Given the description of an element on the screen output the (x, y) to click on. 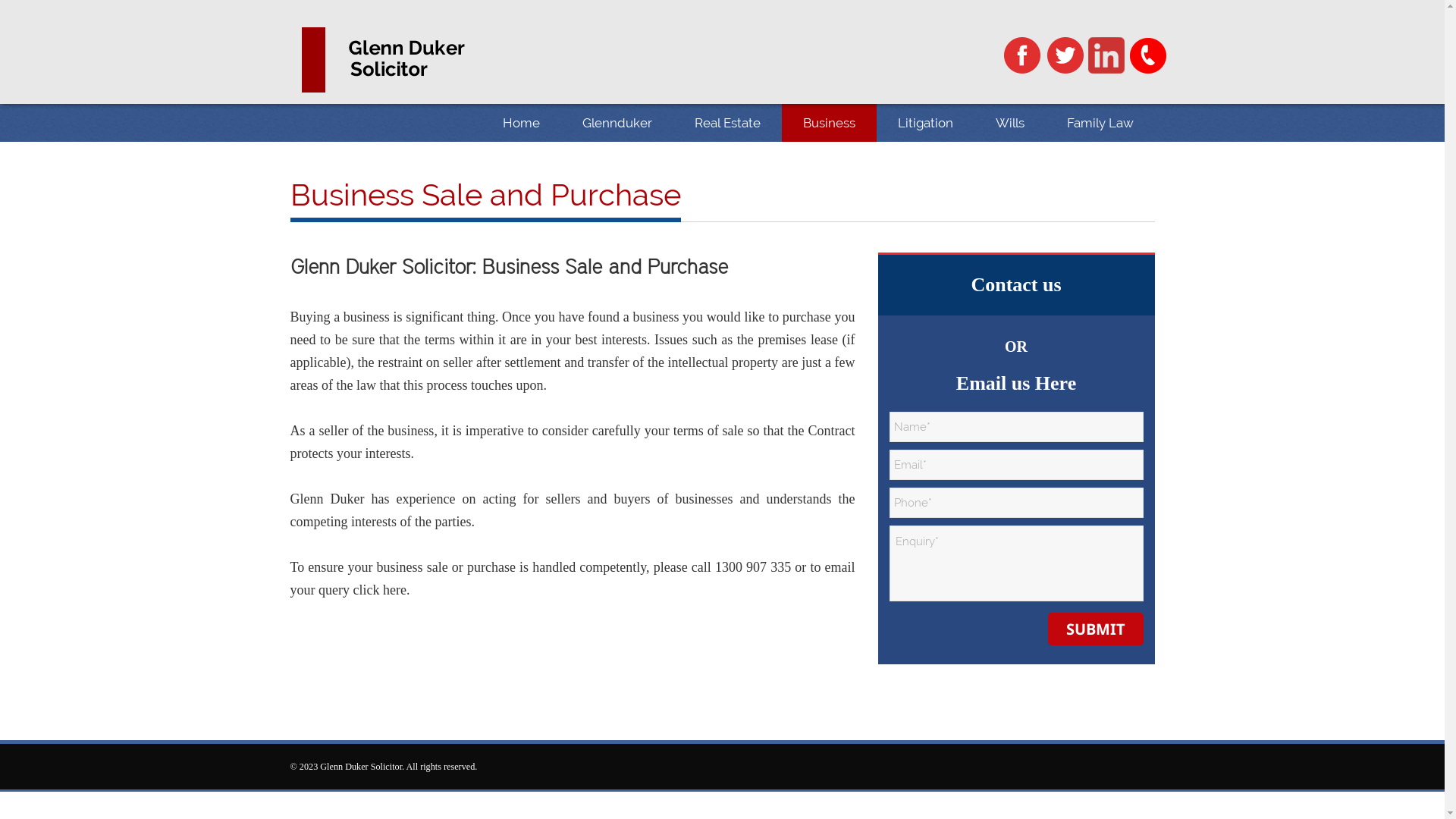
Business Element type: text (828, 122)
Wills Element type: text (1008, 122)
Family Law Element type: text (1099, 122)
Litigation Element type: text (925, 122)
Glennduker Solicitor Element type: hover (405, 59)
Real Estate Element type: text (727, 122)
Home Element type: text (520, 122)
SUBMIT Element type: text (1095, 628)
Glennduker Element type: text (617, 122)
